Given the description of an element on the screen output the (x, y) to click on. 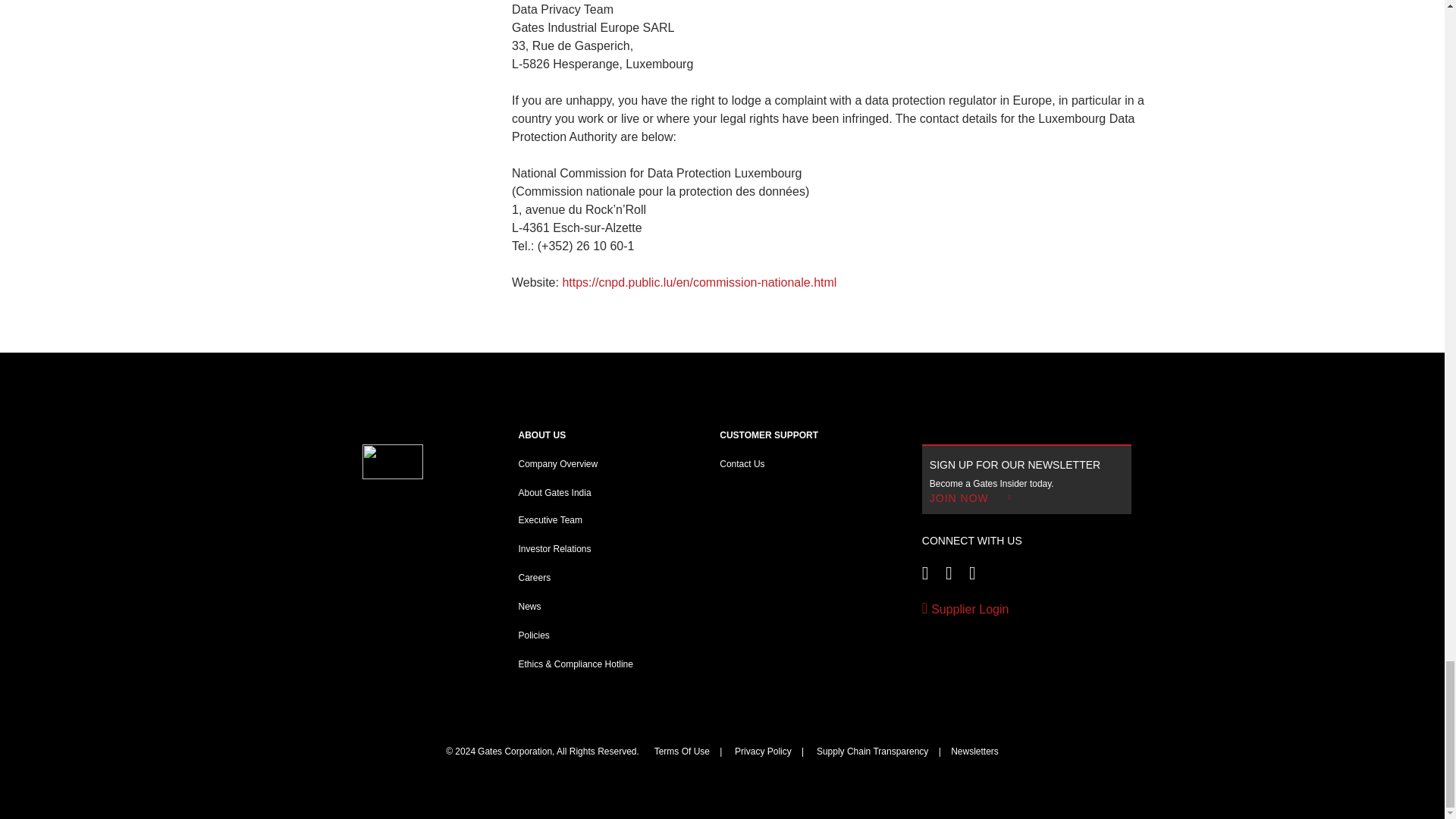
Careers (535, 577)
Policies (534, 634)
Privacy Policy (763, 751)
Supplier Login (1026, 609)
Investor Relations (554, 548)
Supply Chain Transparency (872, 751)
Contact Us (741, 463)
Executive Team (551, 520)
Company Overview (558, 463)
Terms Of Use (681, 751)
News (529, 606)
